Given the description of an element on the screen output the (x, y) to click on. 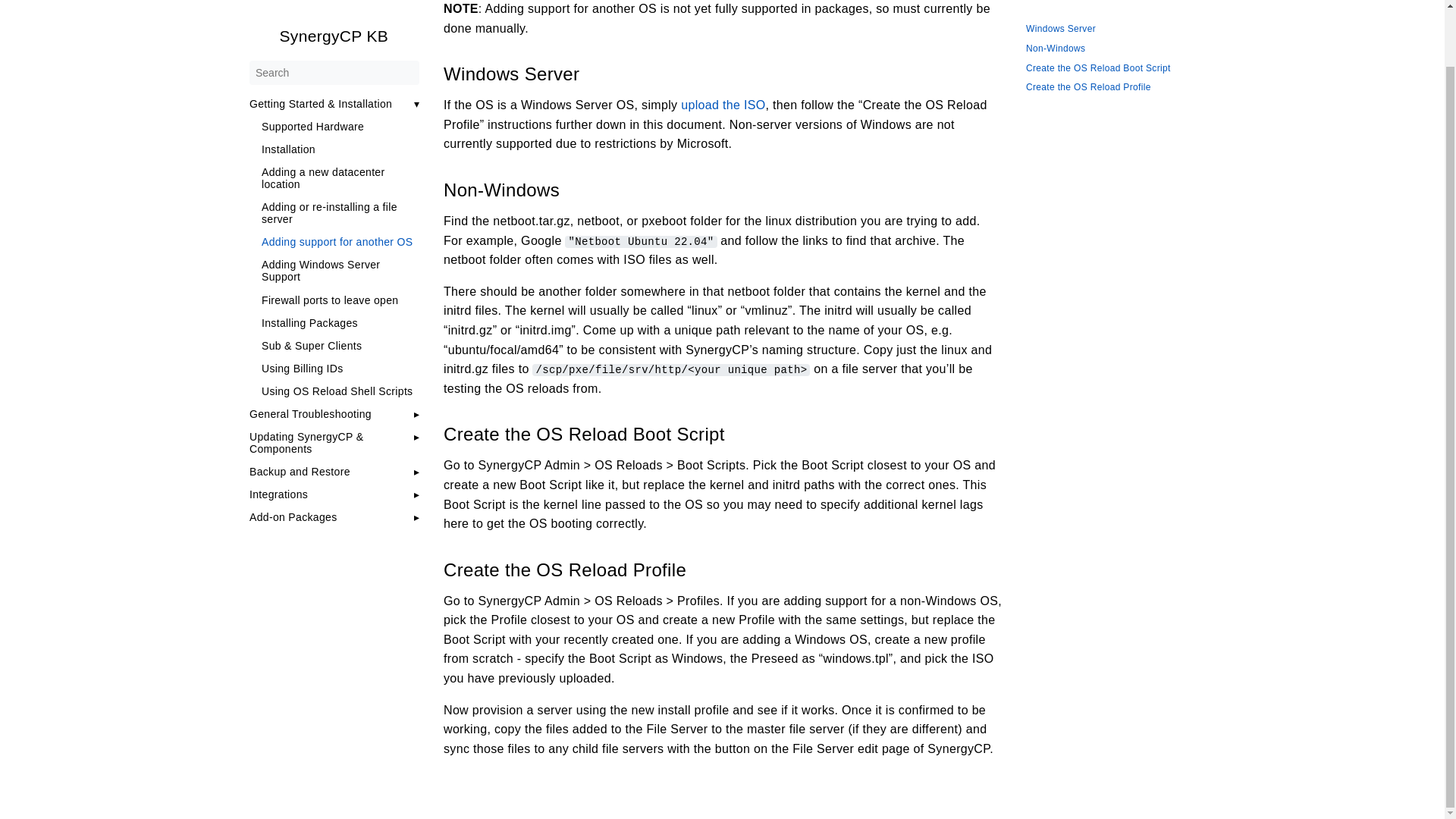
Backup and Restore (298, 410)
Adding or re-installing a file server (339, 151)
Using Billing IDs (339, 306)
Adding support for another OS (339, 180)
Installation (339, 87)
General Troubleshooting (309, 352)
Add-on Packages (292, 455)
Integrations (277, 432)
Adding Windows Server Support (339, 209)
Installing Packages (339, 261)
